Given the description of an element on the screen output the (x, y) to click on. 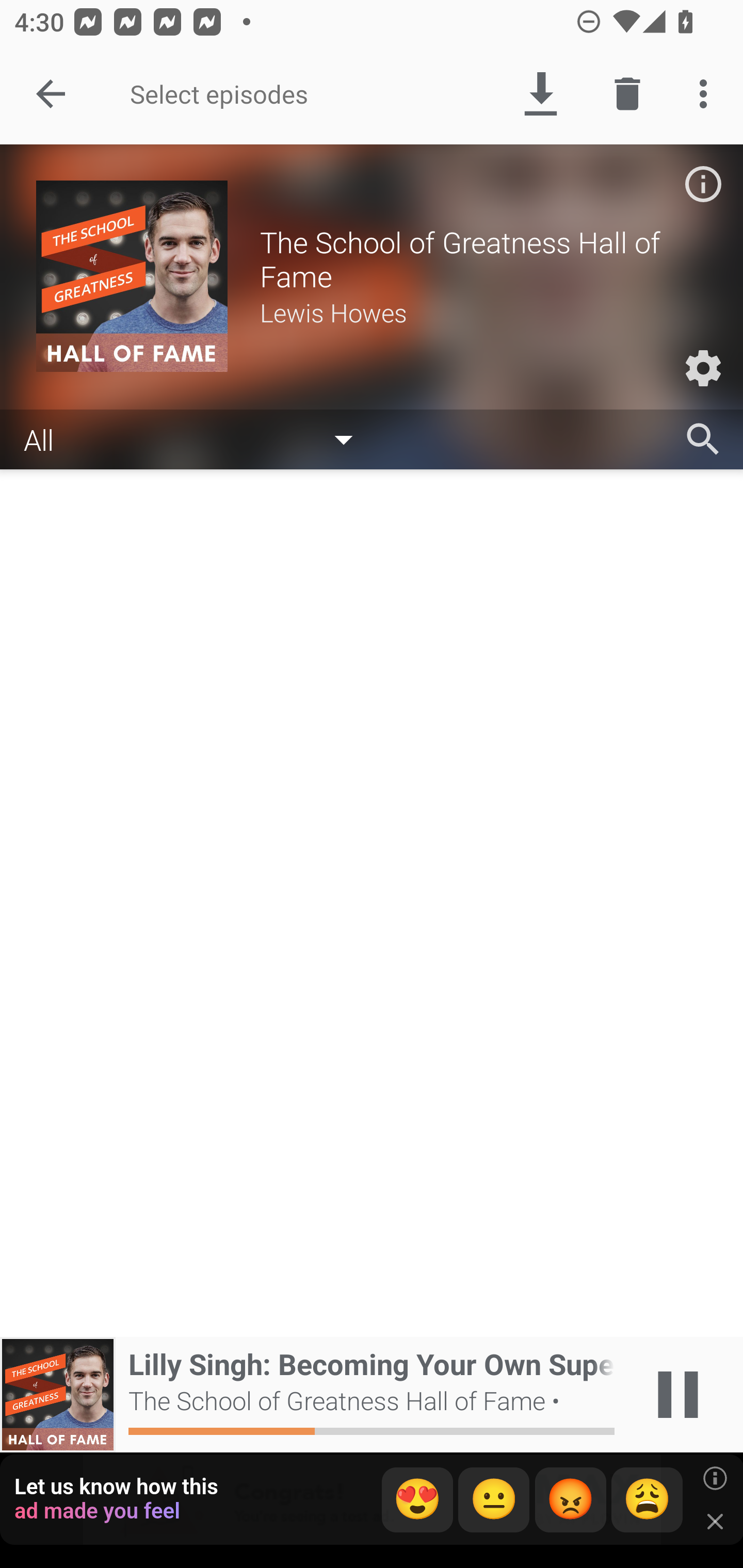
Done (50, 93)
Download (540, 93)
Delete episode (626, 93)
More options (706, 93)
Podcast description (703, 184)
Lewis Howes (483, 311)
Custom Settings (703, 368)
Search (703, 439)
All (197, 438)
Play / Pause (677, 1394)
app-monetization (371, 1500)
😍 (416, 1499)
😐 (493, 1499)
😡 (570, 1499)
😩 (647, 1499)
